Given the description of an element on the screen output the (x, y) to click on. 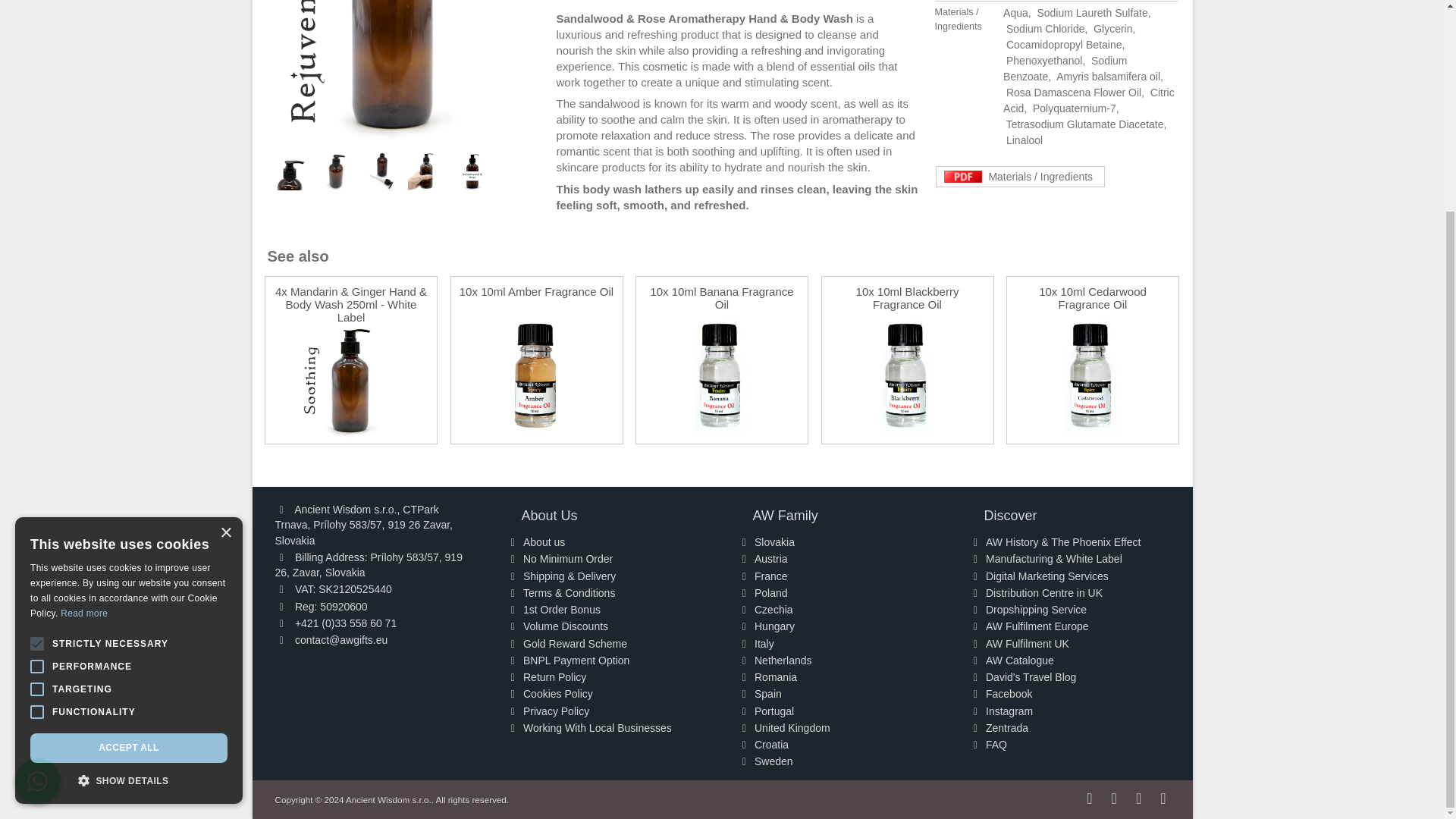
Opens a widget where you can chat to one of our agents (1389, 516)
